Given the description of an element on the screen output the (x, y) to click on. 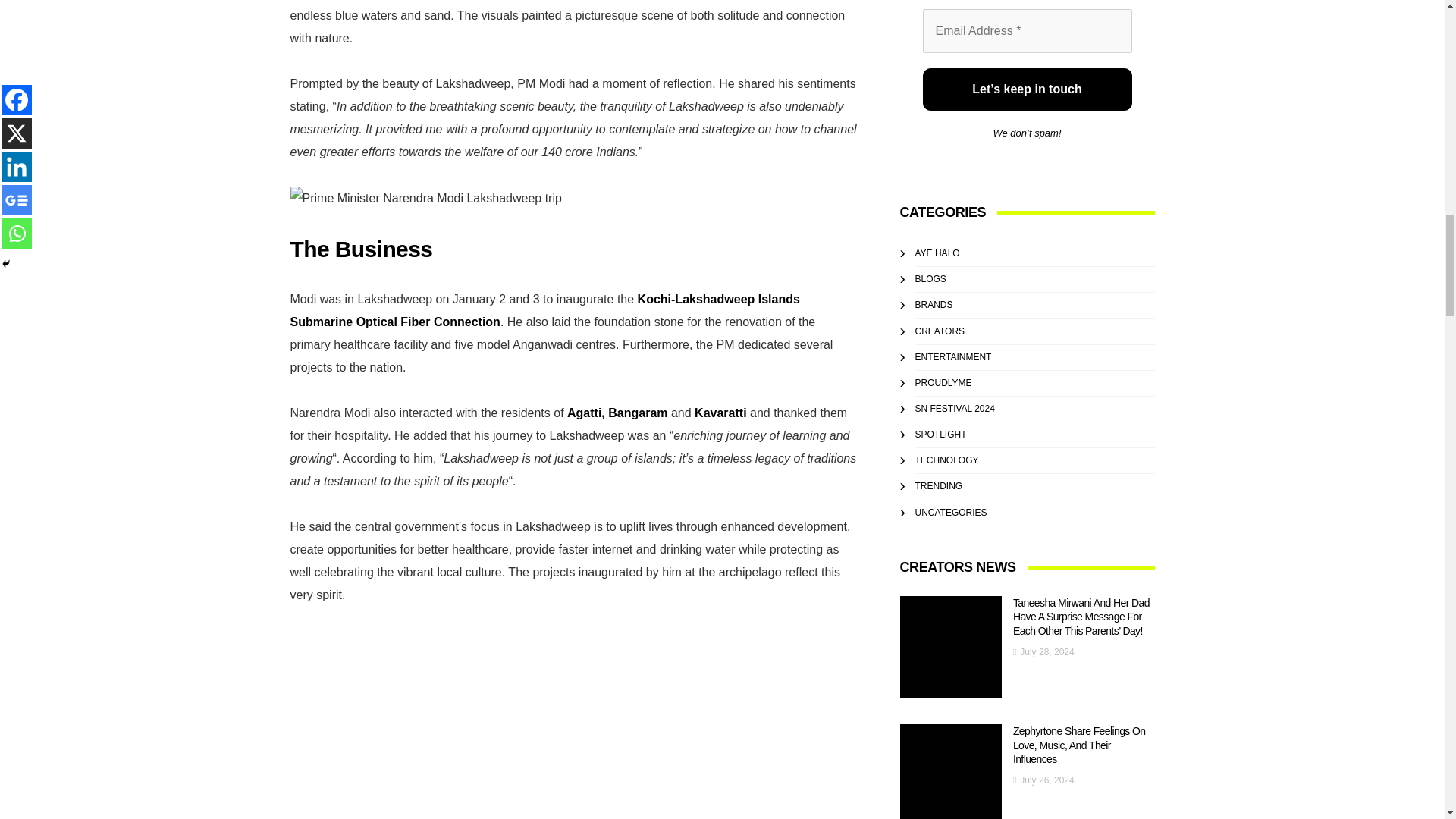
WhatsApp-Image-2024-01-05-at-3.36.48-PM-1 - Social Nation (424, 198)
